Given the description of an element on the screen output the (x, y) to click on. 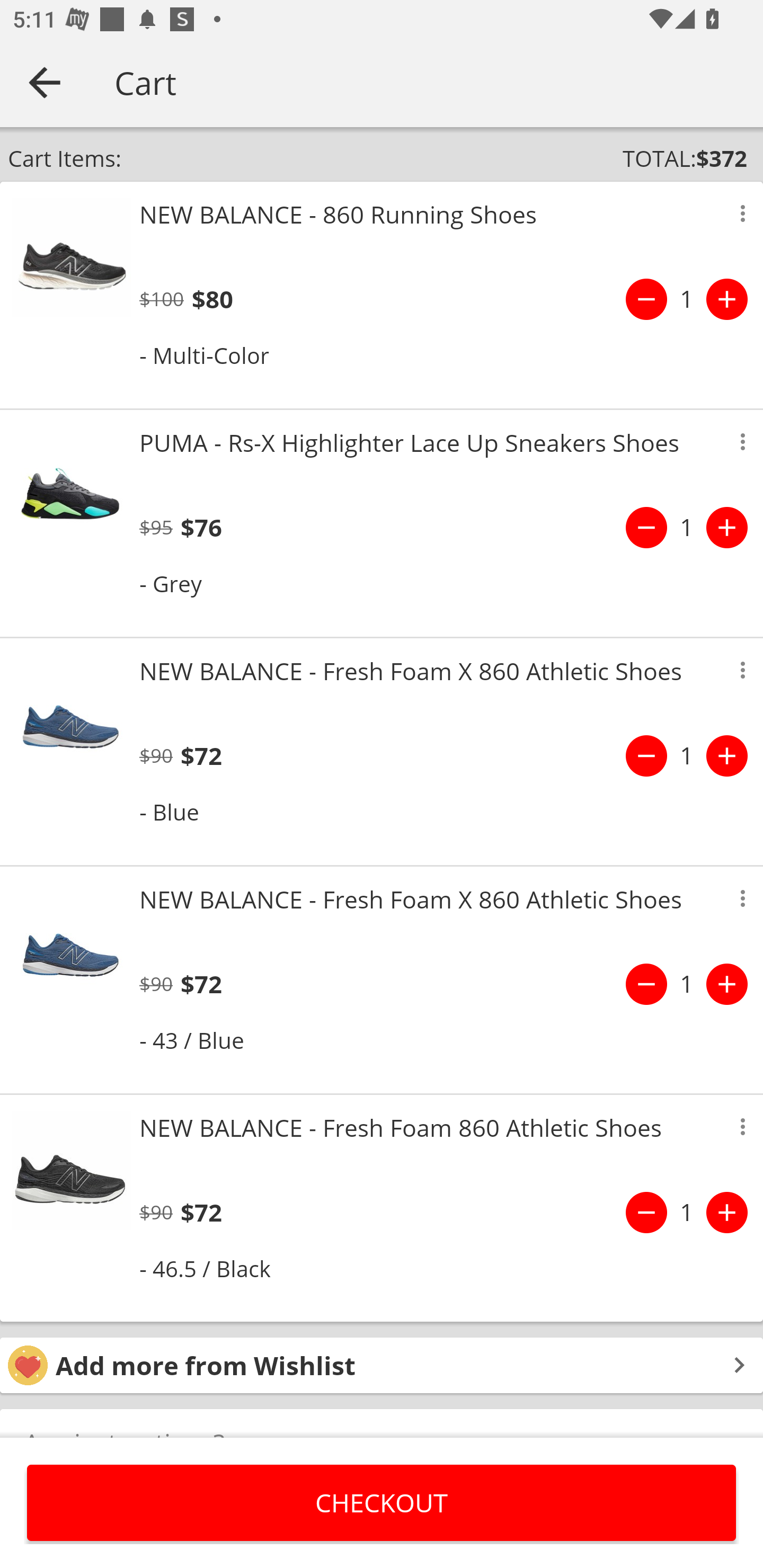
Navigate up (44, 82)
1 (686, 299)
1 (686, 527)
1 (686, 755)
1 (686, 984)
1 (686, 1211)
Add more from Wishlist (381, 1365)
CHECKOUT (381, 1502)
